Given the description of an element on the screen output the (x, y) to click on. 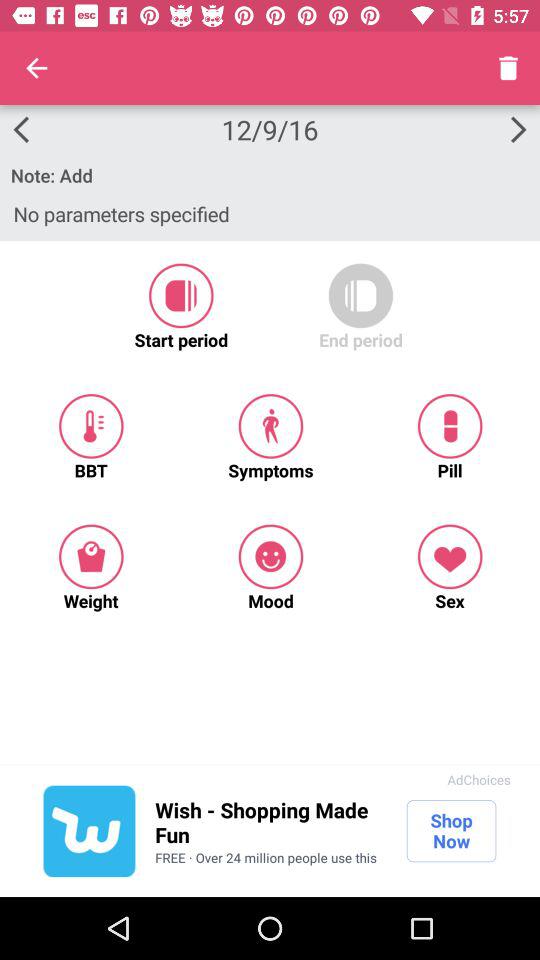
turn off the note: add icon (269, 175)
